Given the description of an element on the screen output the (x, y) to click on. 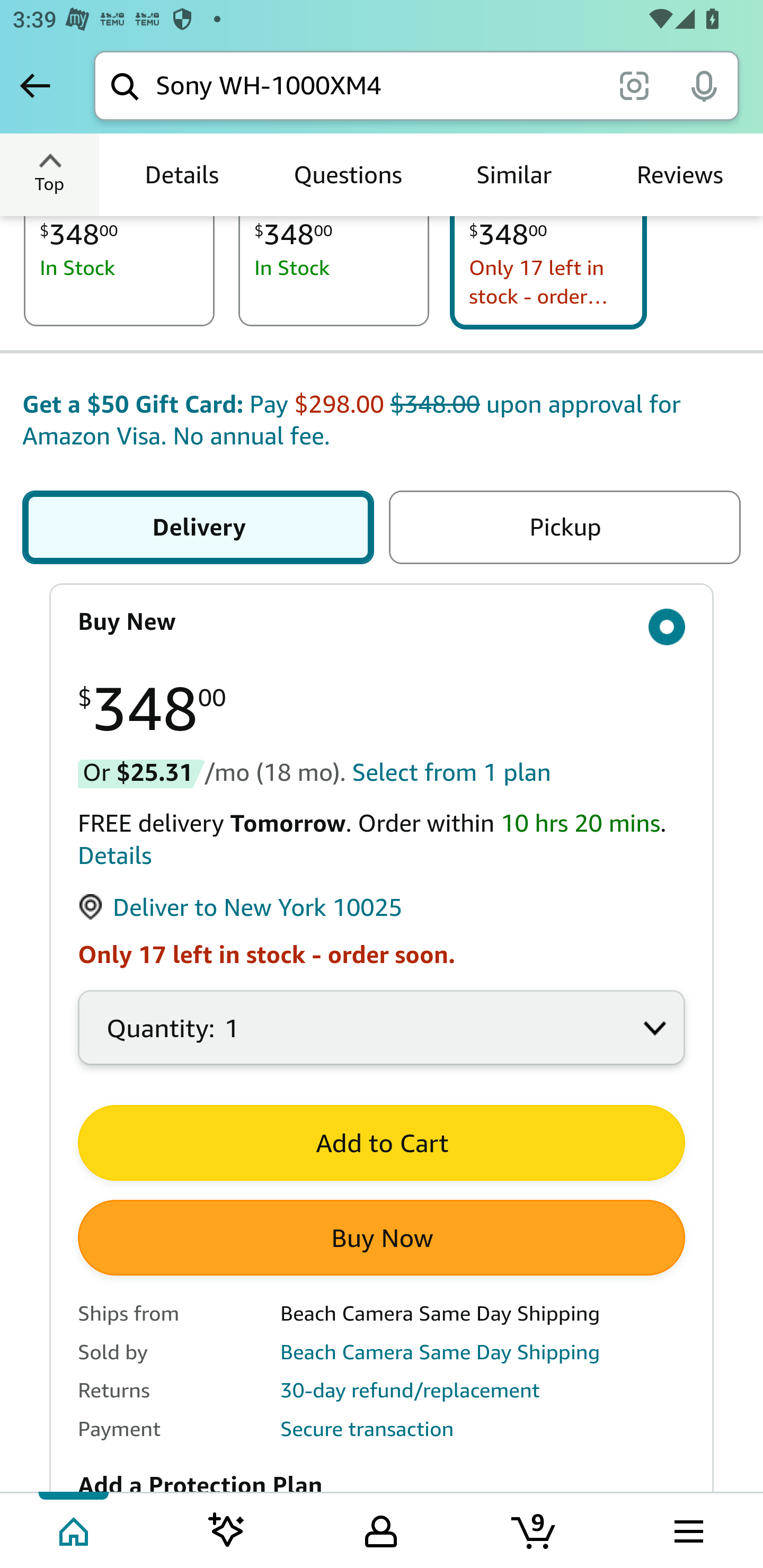
Back (35, 85)
scan it (633, 85)
Delivery (201, 528)
Pickup (560, 528)
Buy New (381, 622)
Select from 1 plan (450, 772)
Details (114, 855)
Deliver to New York 10025‌ (240, 907)
1 (381, 1037)
Add to Cart (381, 1142)
Buy Now (381, 1237)
Beach Camera Same Day Shipping (440, 1351)
Home Tab 1 of 5 (75, 1529)
Inspire feed Tab 2 of 5 (227, 1529)
Your Amazon.com Tab 3 of 5 (380, 1529)
Cart 9 items Tab 4 of 5 9 (534, 1529)
Browse menu Tab 5 of 5 (687, 1529)
